Given the description of an element on the screen output the (x, y) to click on. 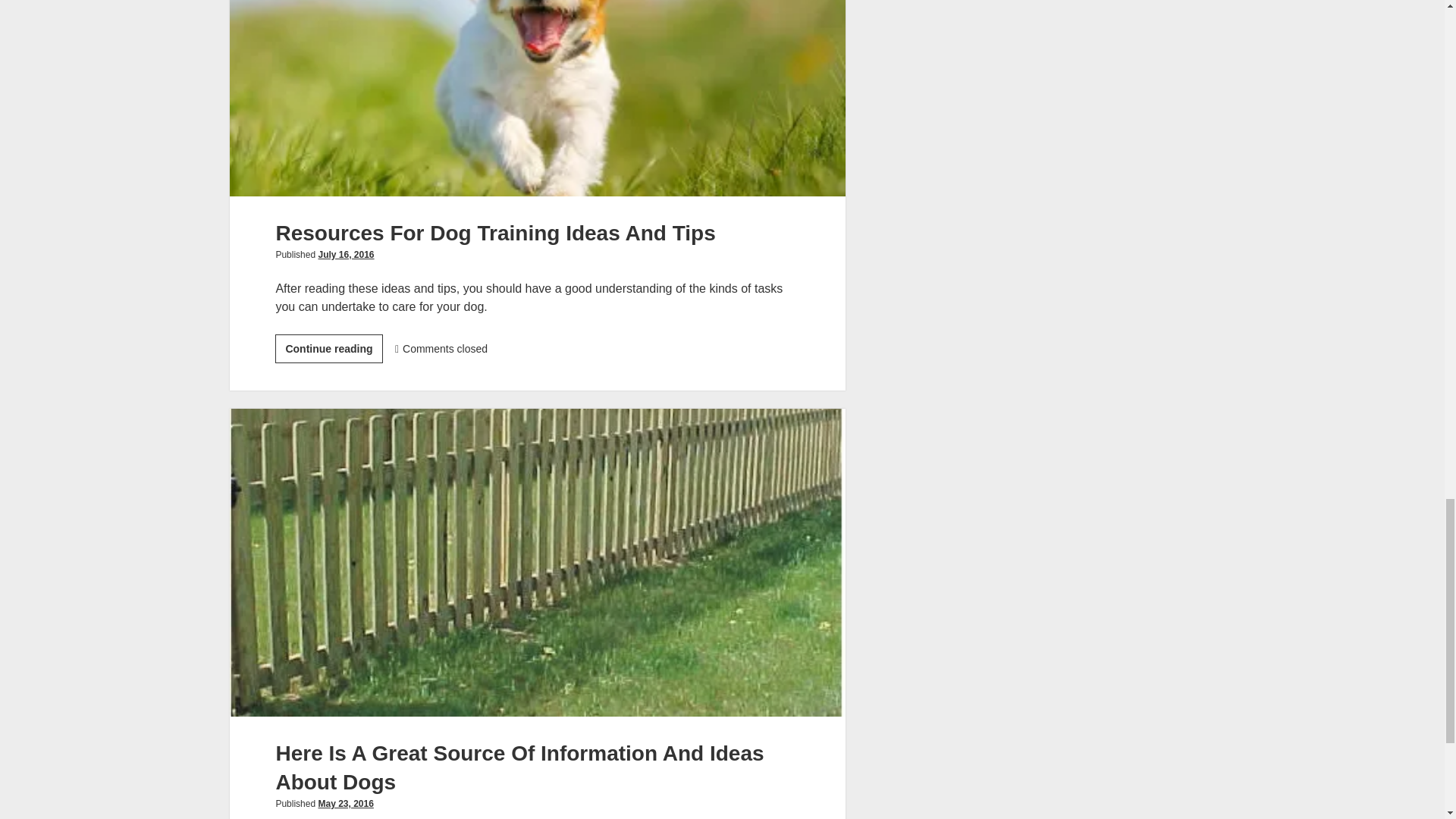
Resources For Dog Training Ideas And Tips (536, 98)
July 16, 2016 (345, 254)
Resources For Dog Training Ideas And Tips (494, 232)
May 23, 2016 (344, 803)
Here Is A Great Source Of Information And Ideas About Dogs (328, 348)
